Given the description of an element on the screen output the (x, y) to click on. 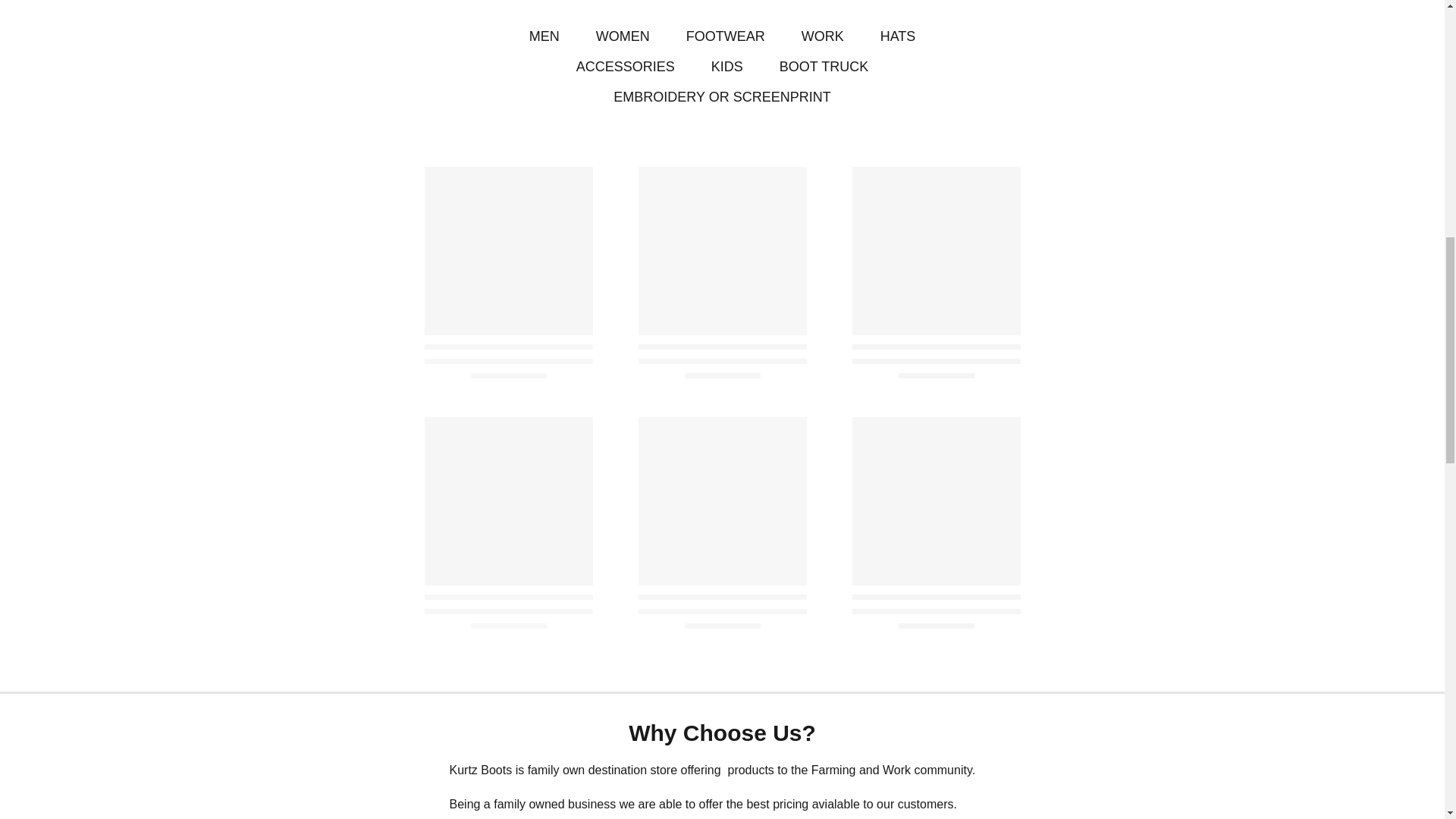
MEN (544, 36)
KIDS (726, 66)
WORK (823, 36)
EMBROIDERY OR SCREENPRINT (720, 96)
WOMEN (622, 36)
BOOT TRUCK (822, 66)
HATS (897, 36)
FOOTWEAR (725, 36)
ACCESSORIES (625, 66)
